Given the description of an element on the screen output the (x, y) to click on. 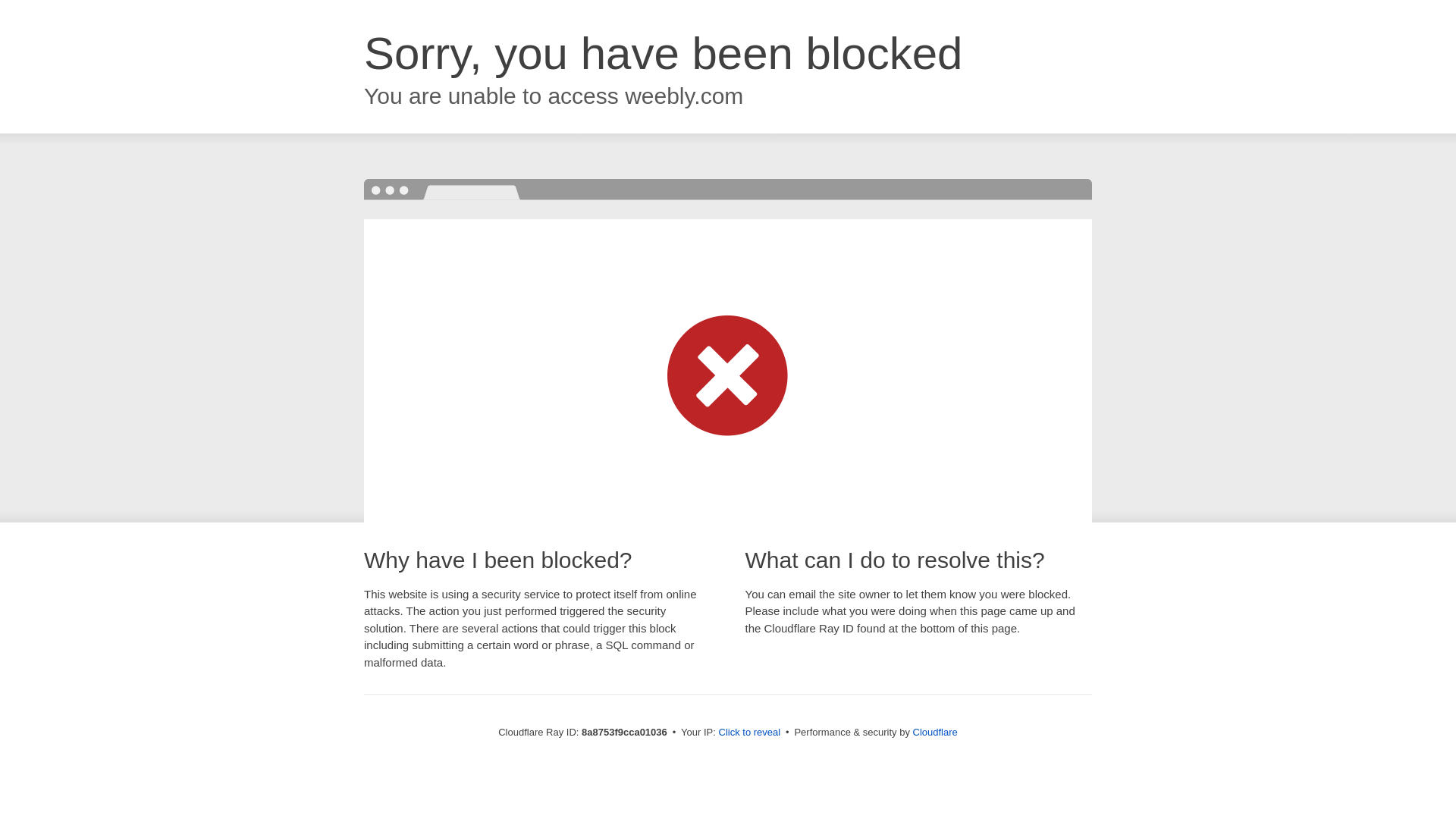
Click to reveal (749, 732)
Cloudflare (935, 731)
